Given the description of an element on the screen output the (x, y) to click on. 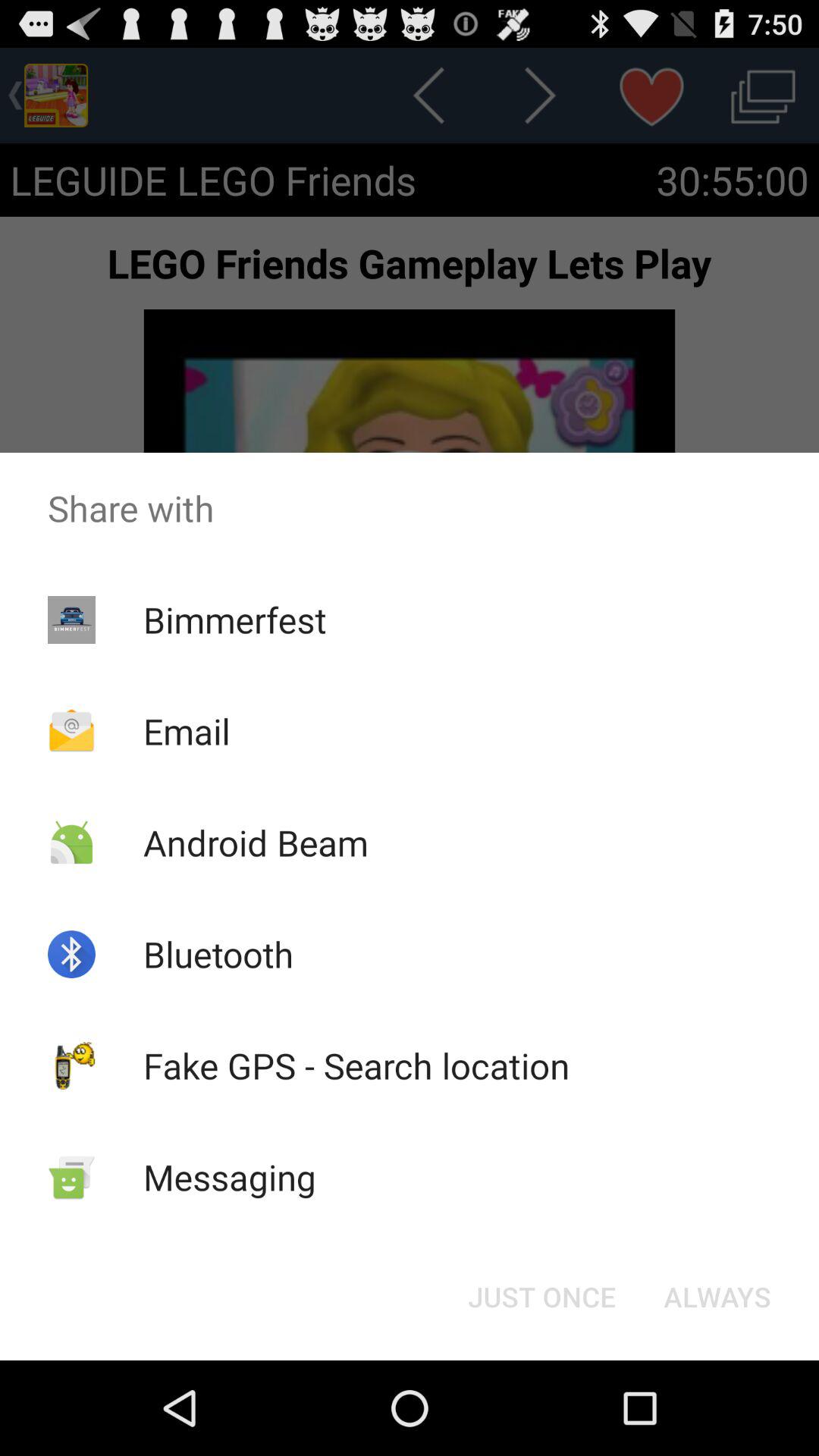
press app below share with icon (717, 1296)
